Given the description of an element on the screen output the (x, y) to click on. 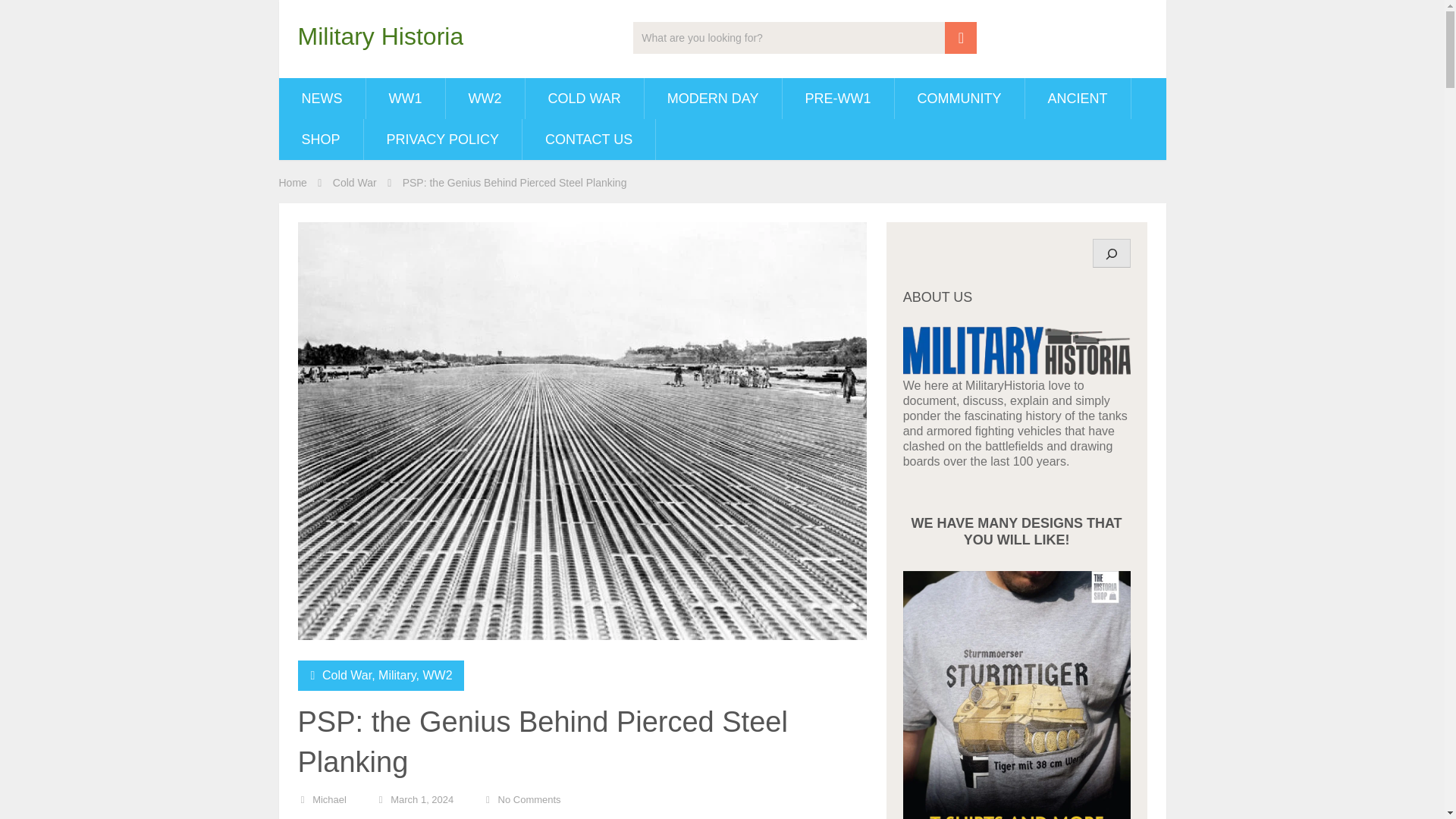
COLD WAR (583, 97)
Michael (329, 799)
Military (396, 675)
Cold War (346, 675)
PRE-WW1 (838, 97)
Home (293, 182)
WW1 (404, 97)
CONTACT US (588, 138)
No Comments (528, 799)
WW2 (484, 97)
Cold War (355, 182)
MODERN DAY (713, 97)
PRIVACY POLICY (442, 138)
ANCIENT (1078, 97)
What are you looking for? (804, 38)
